Given the description of an element on the screen output the (x, y) to click on. 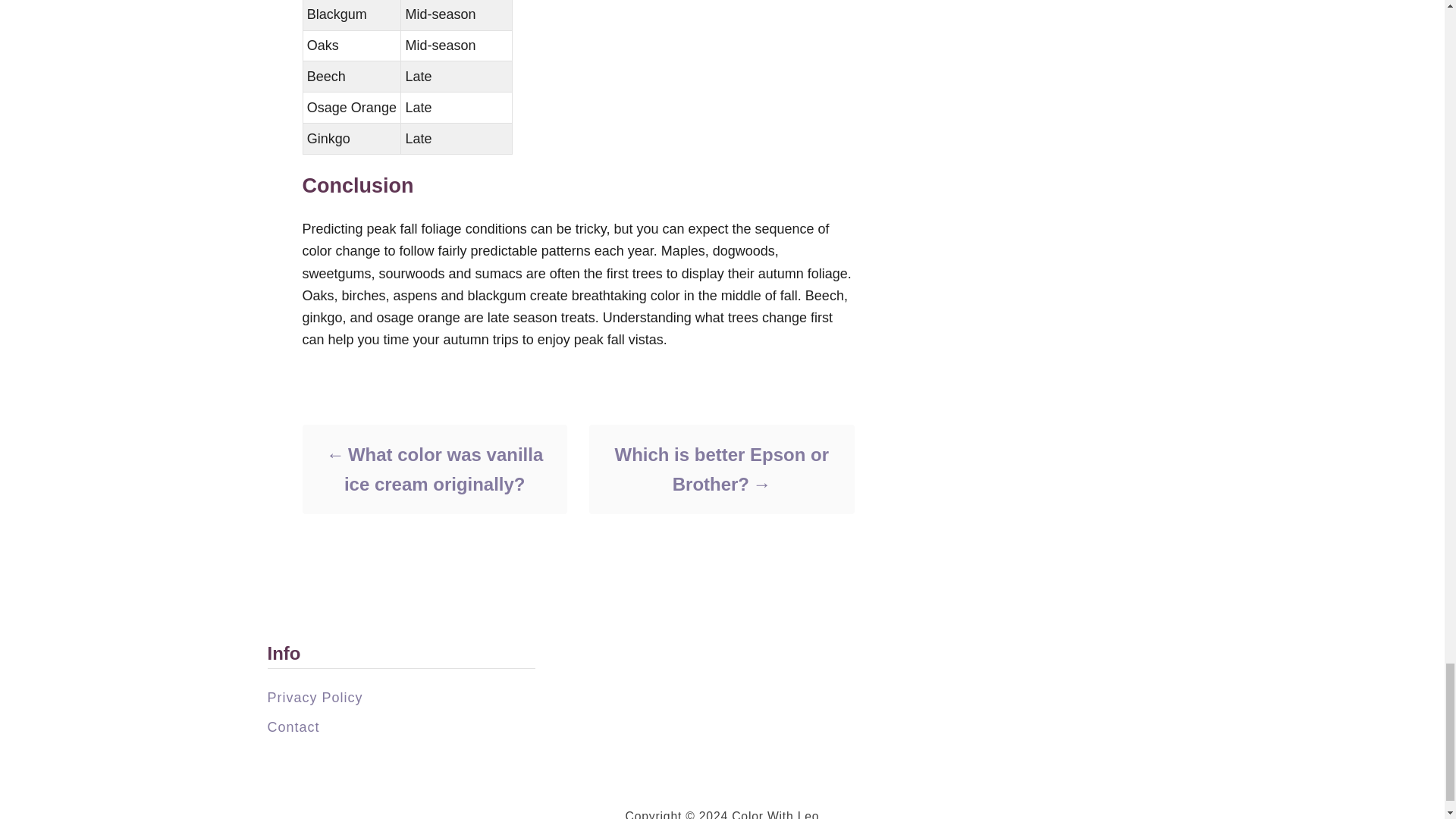
Contact (292, 726)
What color was vanilla ice cream originally? (434, 467)
Which is better Epson or Brother? (721, 467)
Privacy Policy (314, 696)
